Given the description of an element on the screen output the (x, y) to click on. 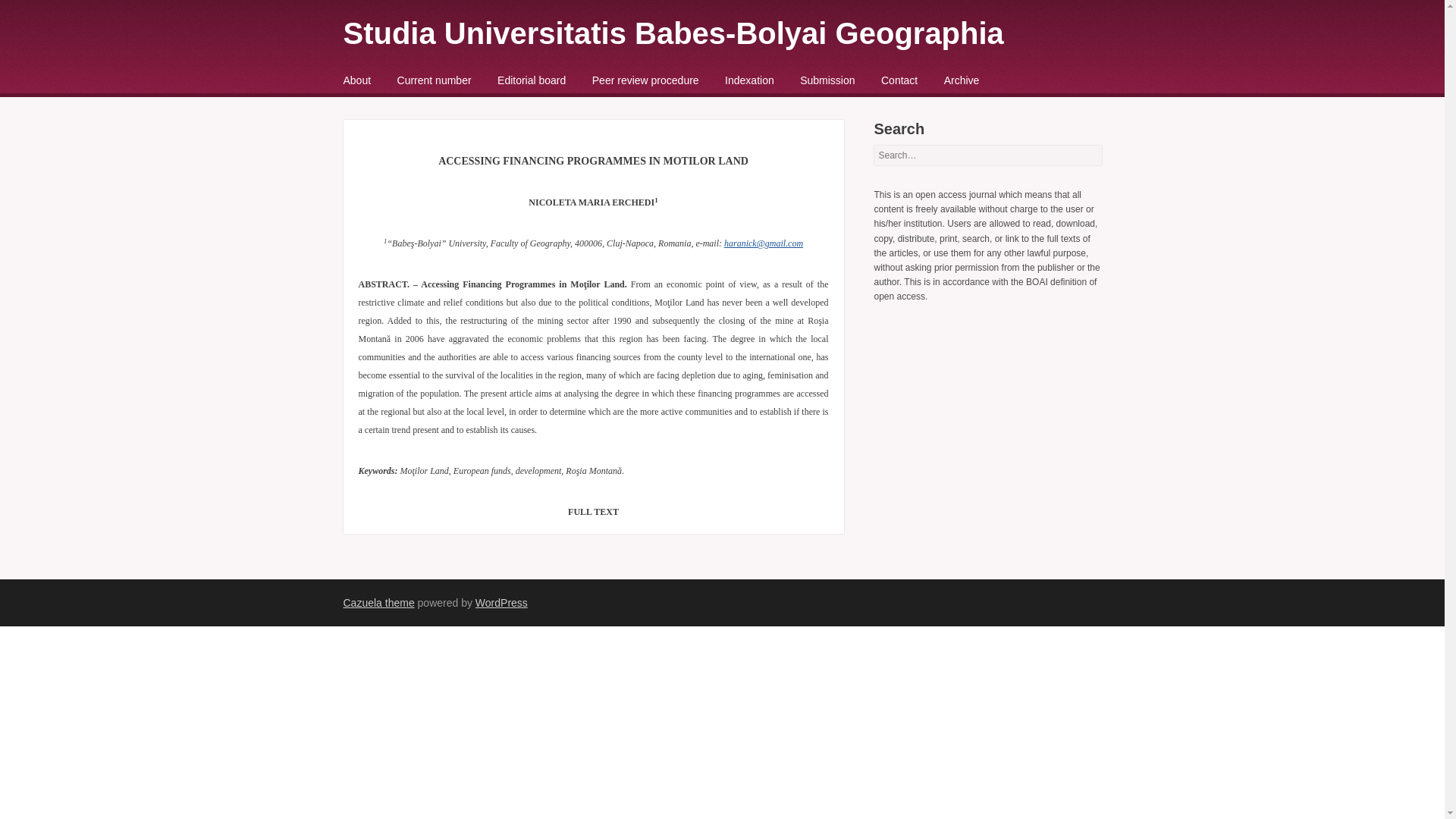
Archive (961, 79)
Semantic Personal Publishing Platform (501, 603)
Editorial board (531, 79)
Indexation (749, 79)
Cazuela theme (377, 603)
Current number (434, 79)
About (356, 79)
Studia Universitatis Babes-Bolyai Geographia (672, 32)
Search (33, 17)
WordPress (501, 603)
